Given the description of an element on the screen output the (x, y) to click on. 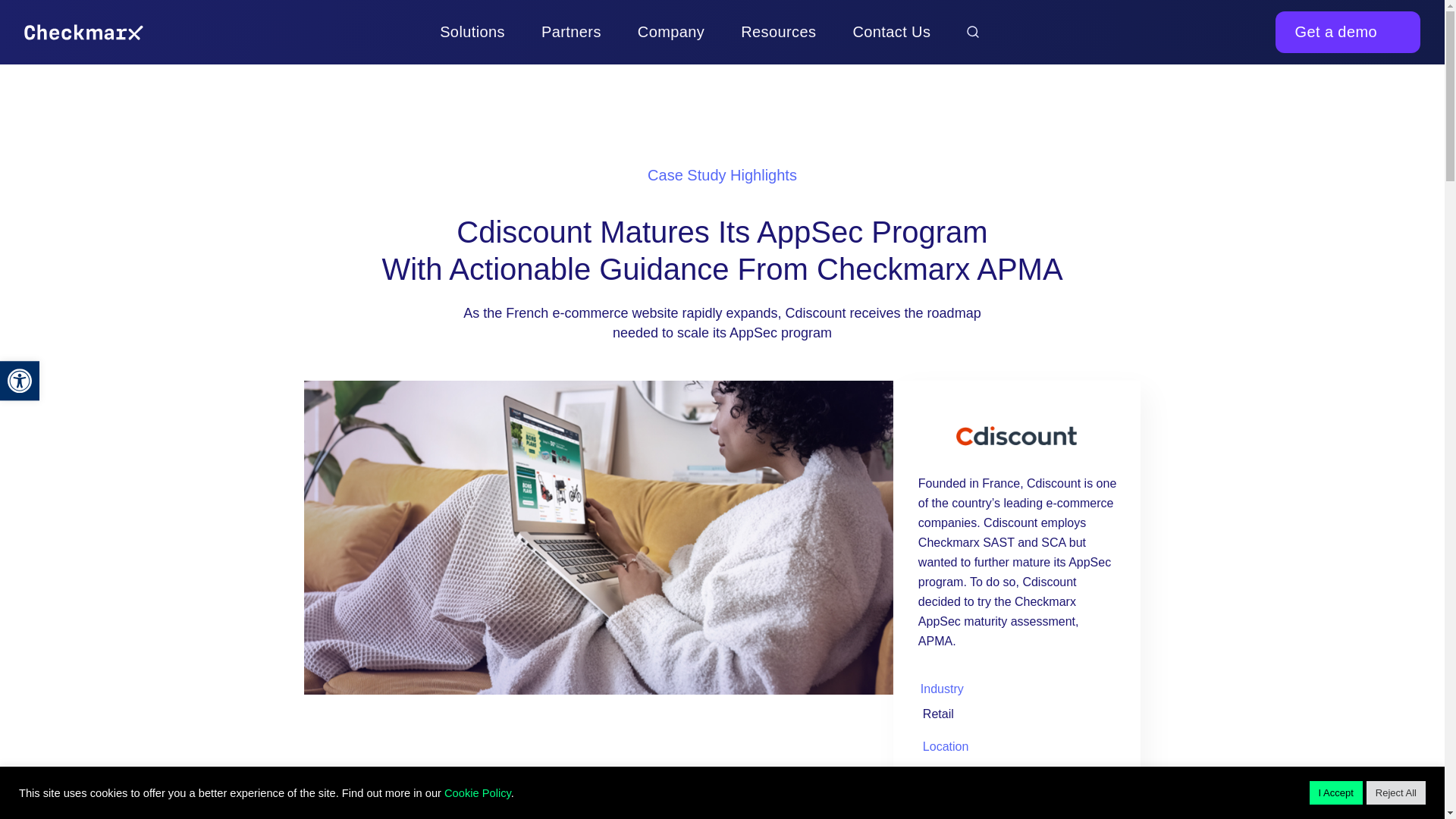
Accessibility (19, 381)
Solutions (472, 32)
Accessibility (19, 381)
Partners (19, 381)
